Given the description of an element on the screen output the (x, y) to click on. 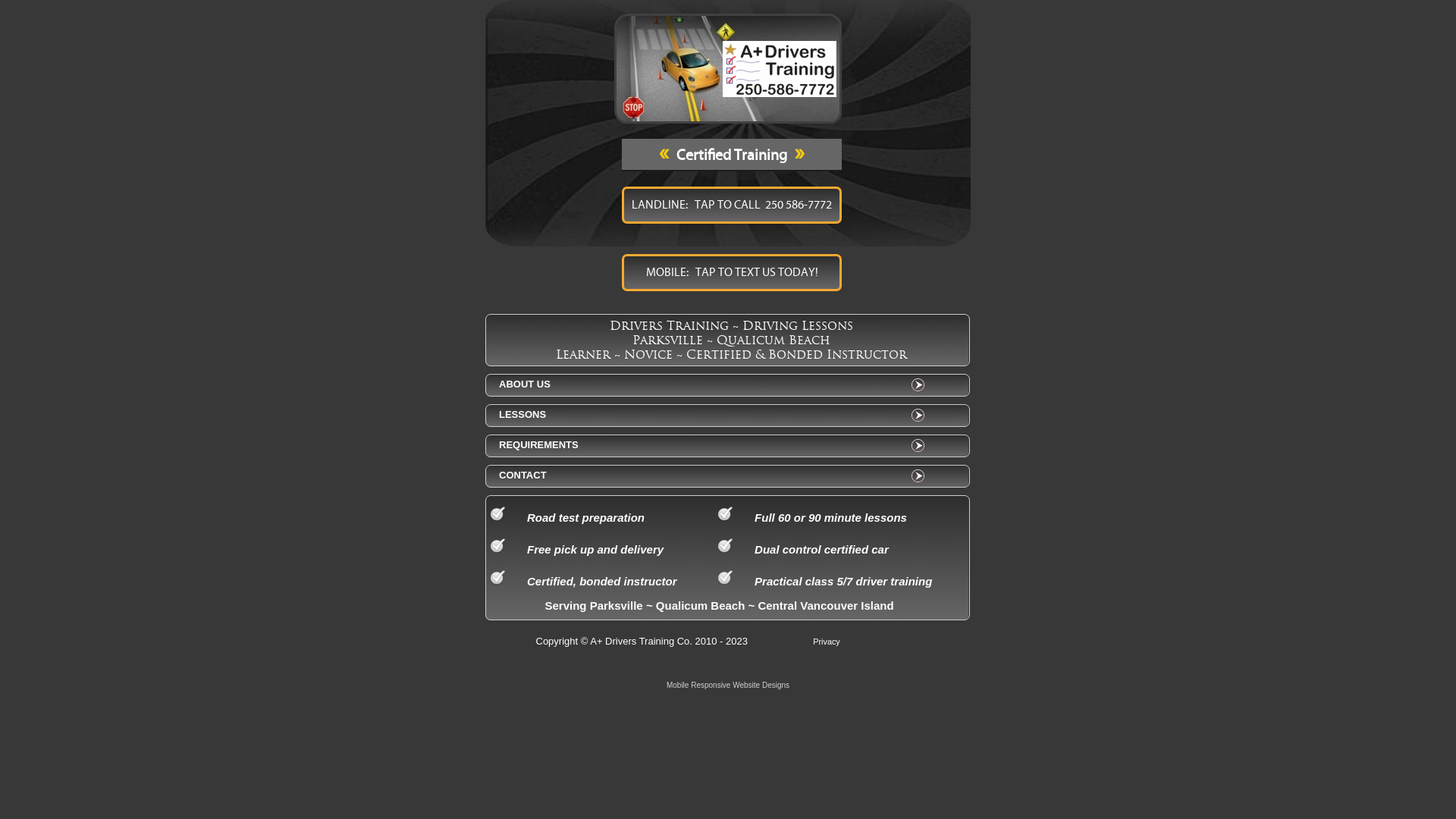
Mobile Responsive Website Designs Element type: text (727, 684)
CONTACT Element type: text (711, 475)
LANDLINE:   TAP TO CALL  250 586-7772 Element type: text (731, 204)
ABOUT US Element type: text (711, 384)
MOBILE:   TAP TO TEXT US TODAY! Element type: text (731, 272)
LESSONS Element type: text (711, 414)
Privacy Element type: text (826, 640)
REQUIREMENTS Element type: text (711, 445)
